Given the description of an element on the screen output the (x, y) to click on. 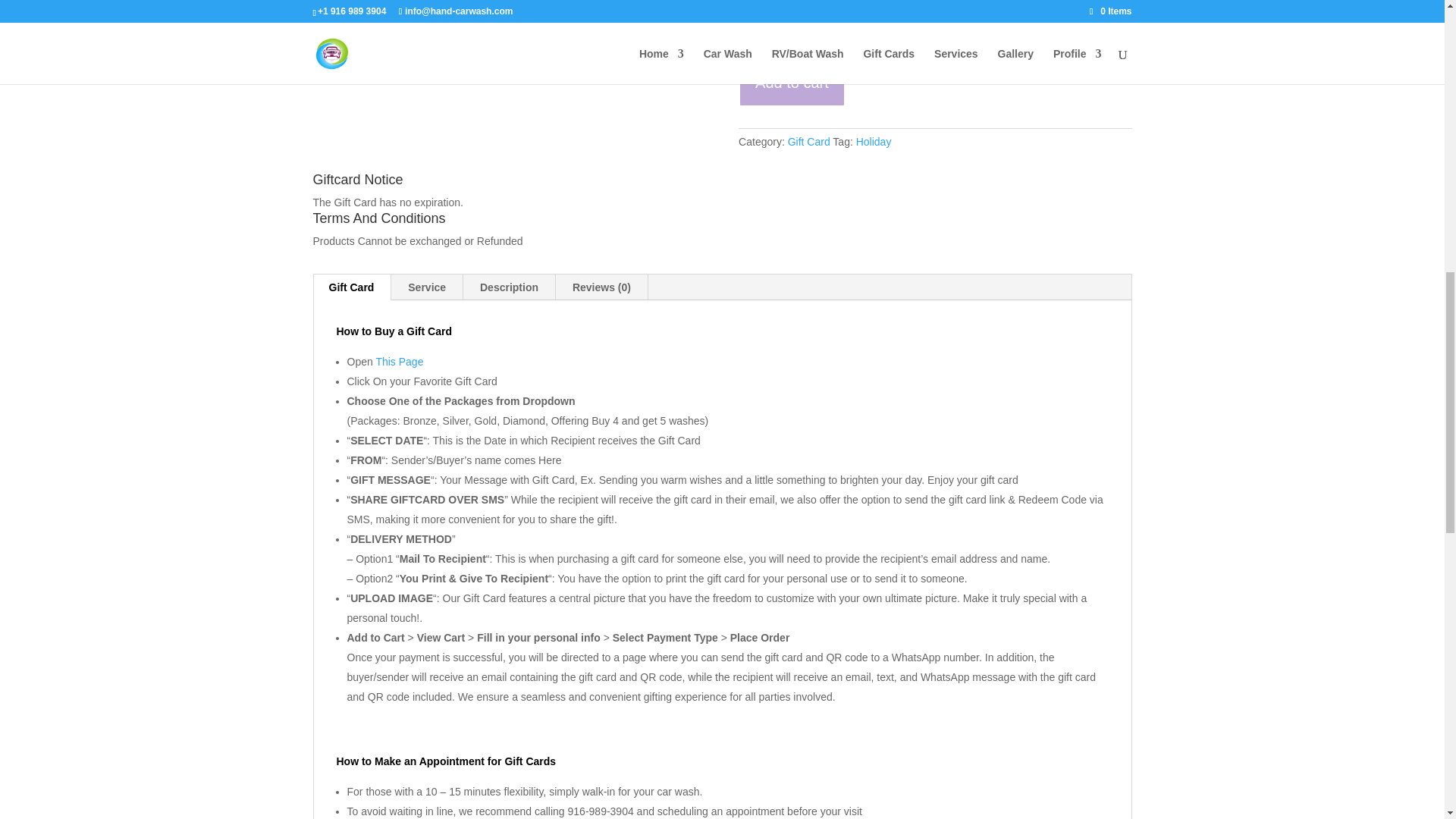
Holiday (873, 141)
Description (508, 287)
Add to cart (791, 82)
Service (427, 287)
PREVIEW (932, 34)
Gift Card (808, 141)
Gift Card (352, 287)
